Given the description of an element on the screen output the (x, y) to click on. 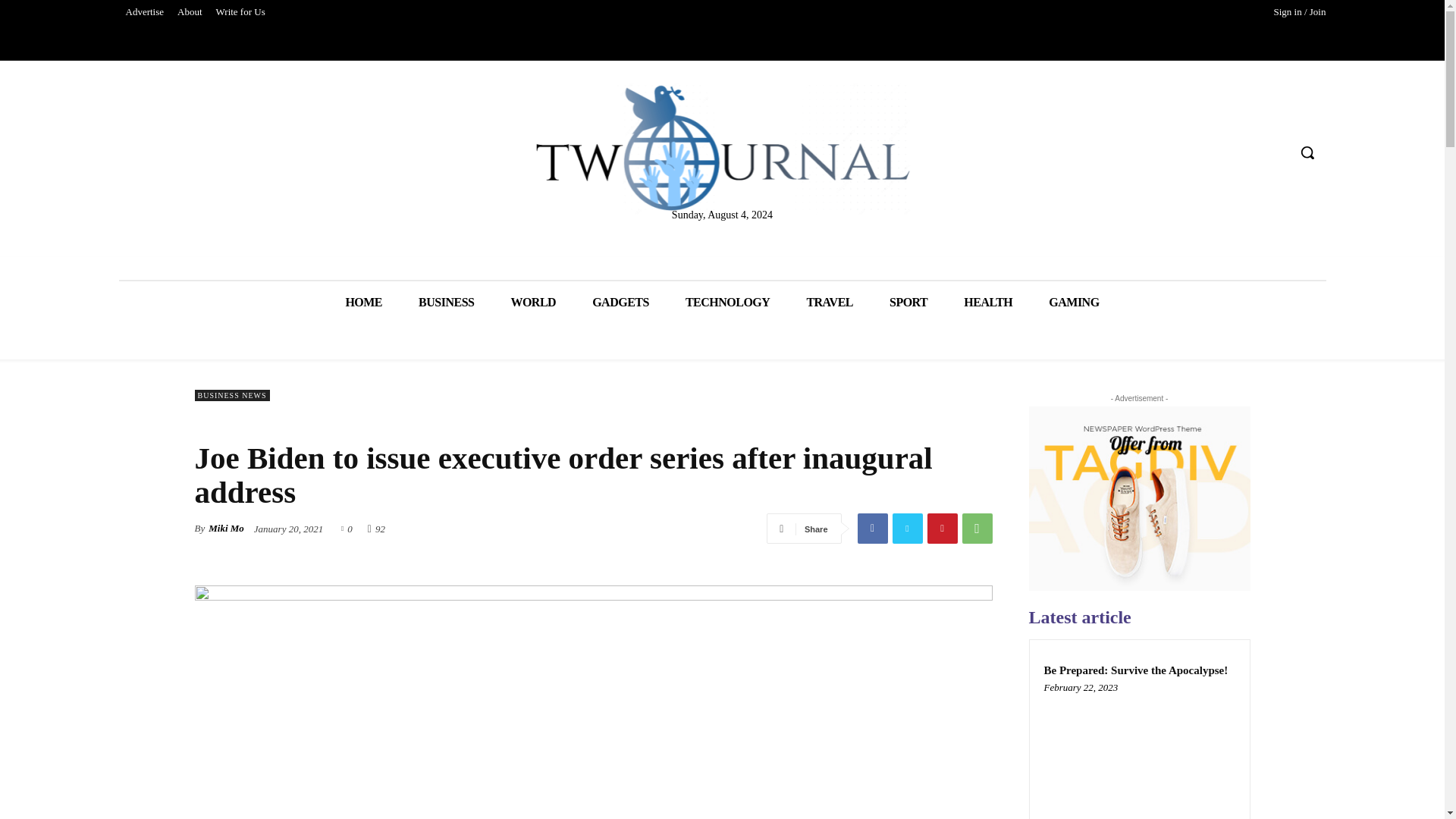
TRAVEL (828, 301)
Write for Us (240, 12)
About (189, 12)
WhatsApp (975, 528)
Twitter (906, 528)
TECHNOLOGY (726, 301)
GAMING (1073, 301)
Pinterest (941, 528)
Advertise (143, 12)
HOME (363, 301)
